Given the description of an element on the screen output the (x, y) to click on. 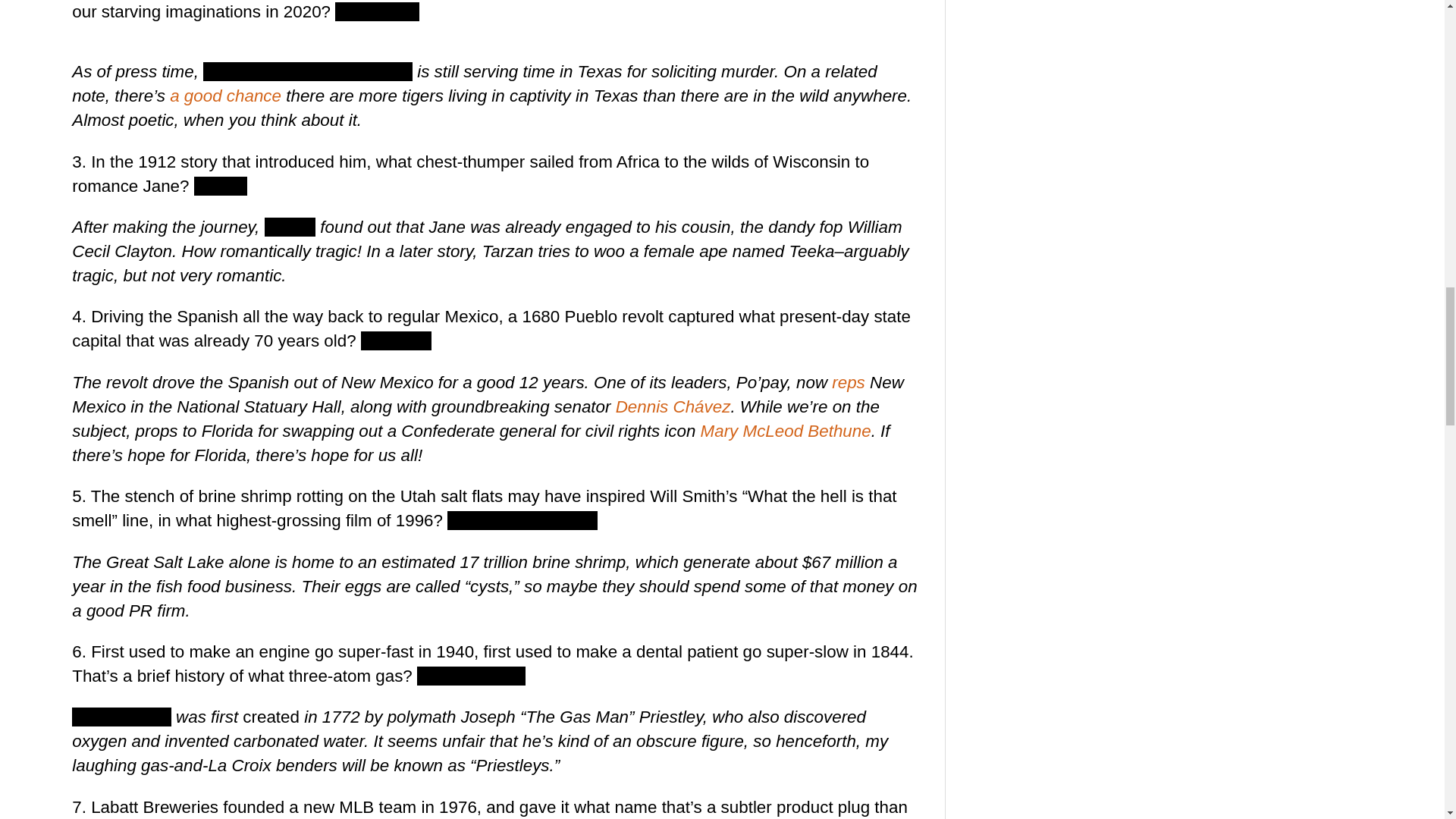
a good chance (225, 95)
reps (847, 382)
Mary McLeod Bethune (785, 430)
